Given the description of an element on the screen output the (x, y) to click on. 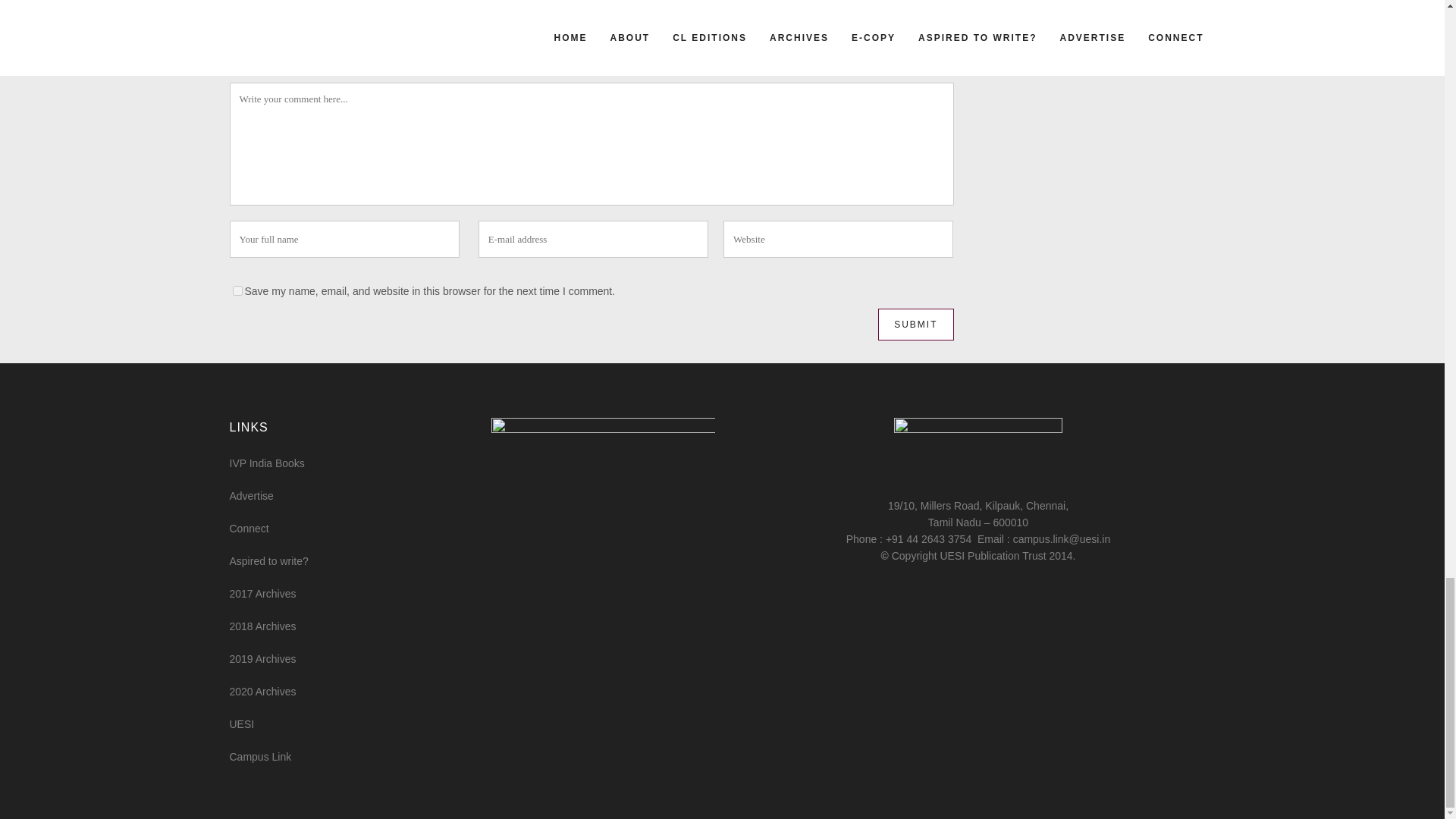
Submit (915, 324)
yes (236, 290)
